Given the description of an element on the screen output the (x, y) to click on. 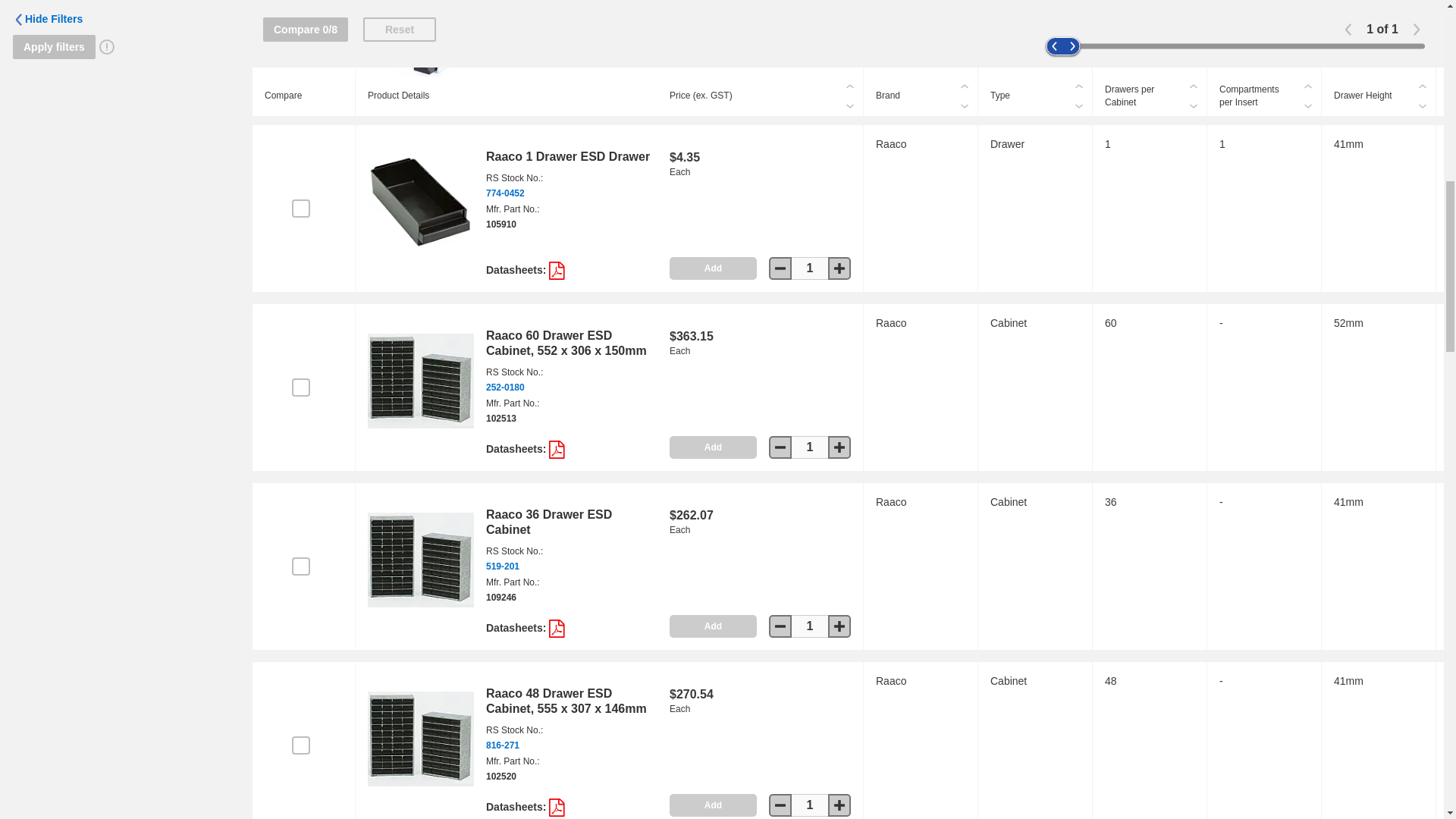
on (299, 208)
1 (810, 268)
1 (810, 804)
on (299, 29)
1 (810, 88)
on (299, 566)
on (299, 387)
1 (810, 446)
1 (810, 626)
on (299, 745)
